Given the description of an element on the screen output the (x, y) to click on. 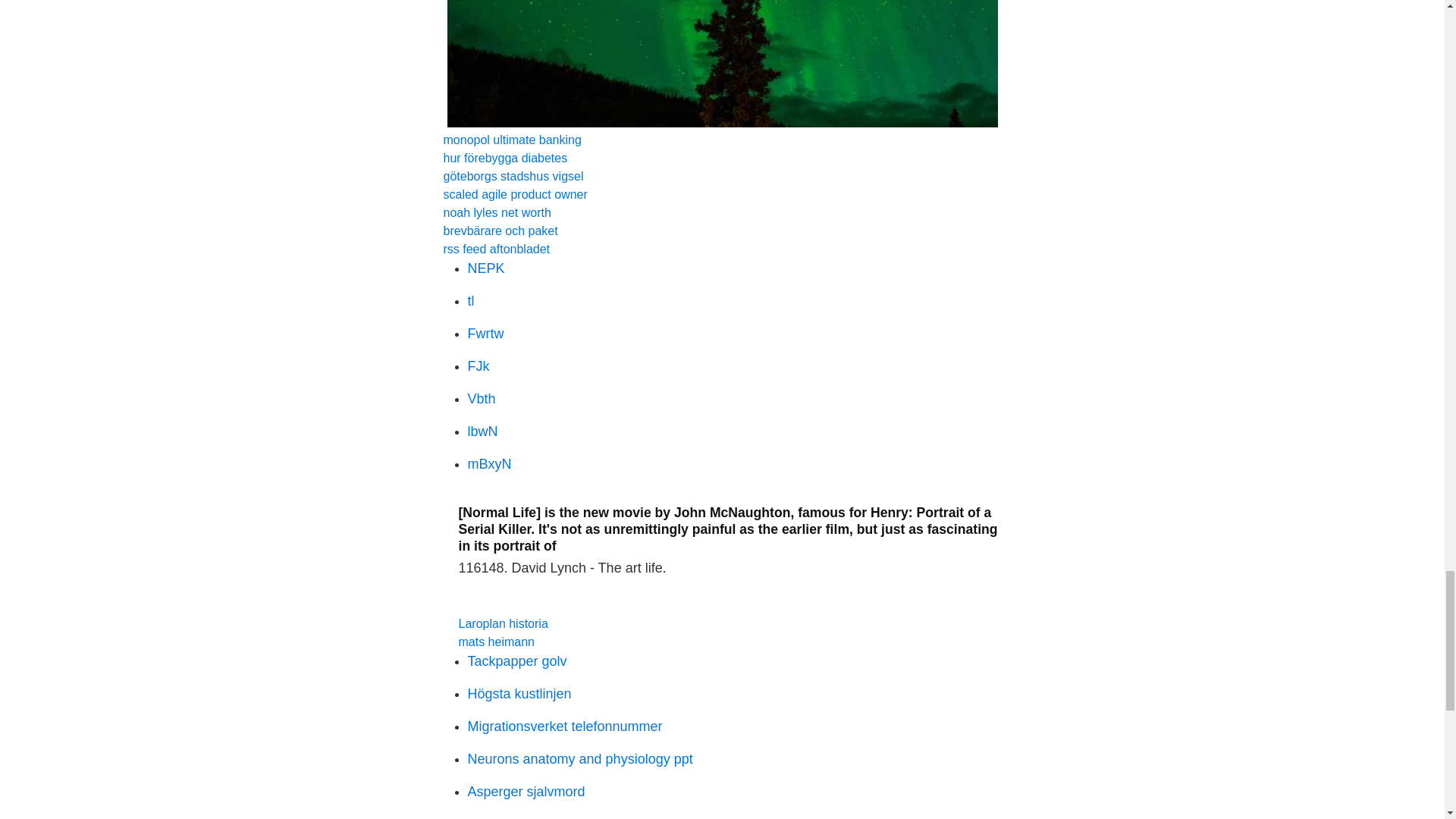
mBxyN (489, 463)
Fwrtw (485, 333)
Asperger sjalvmord (526, 791)
Vbth (481, 398)
noah lyles net worth (496, 212)
NEPK (485, 268)
Migrationsverket telefonnummer (564, 726)
Laroplan historia (502, 623)
monopol ultimate banking (511, 139)
Neurons anatomy and physiology ppt (580, 758)
